Given the description of an element on the screen output the (x, y) to click on. 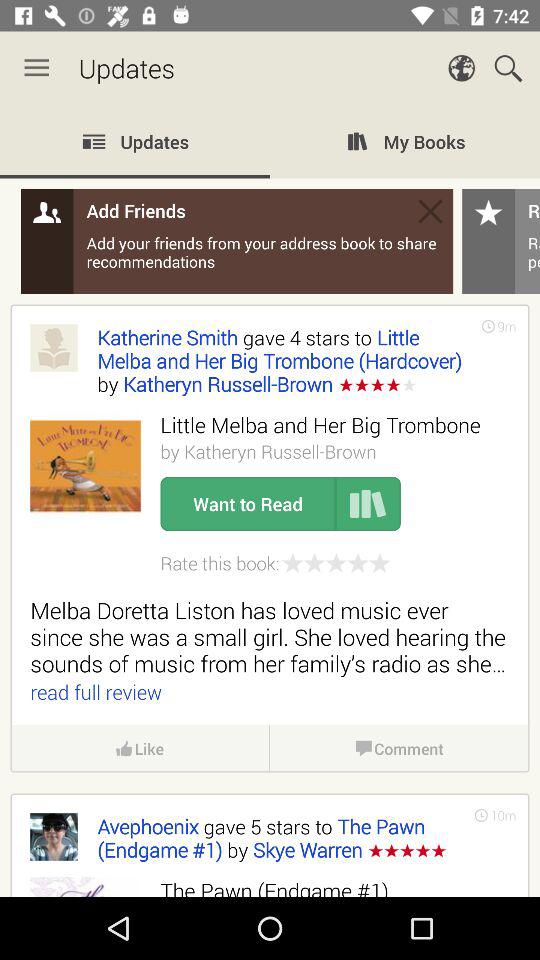
open icon above the avephoenix gave 5 item (139, 748)
